Given the description of an element on the screen output the (x, y) to click on. 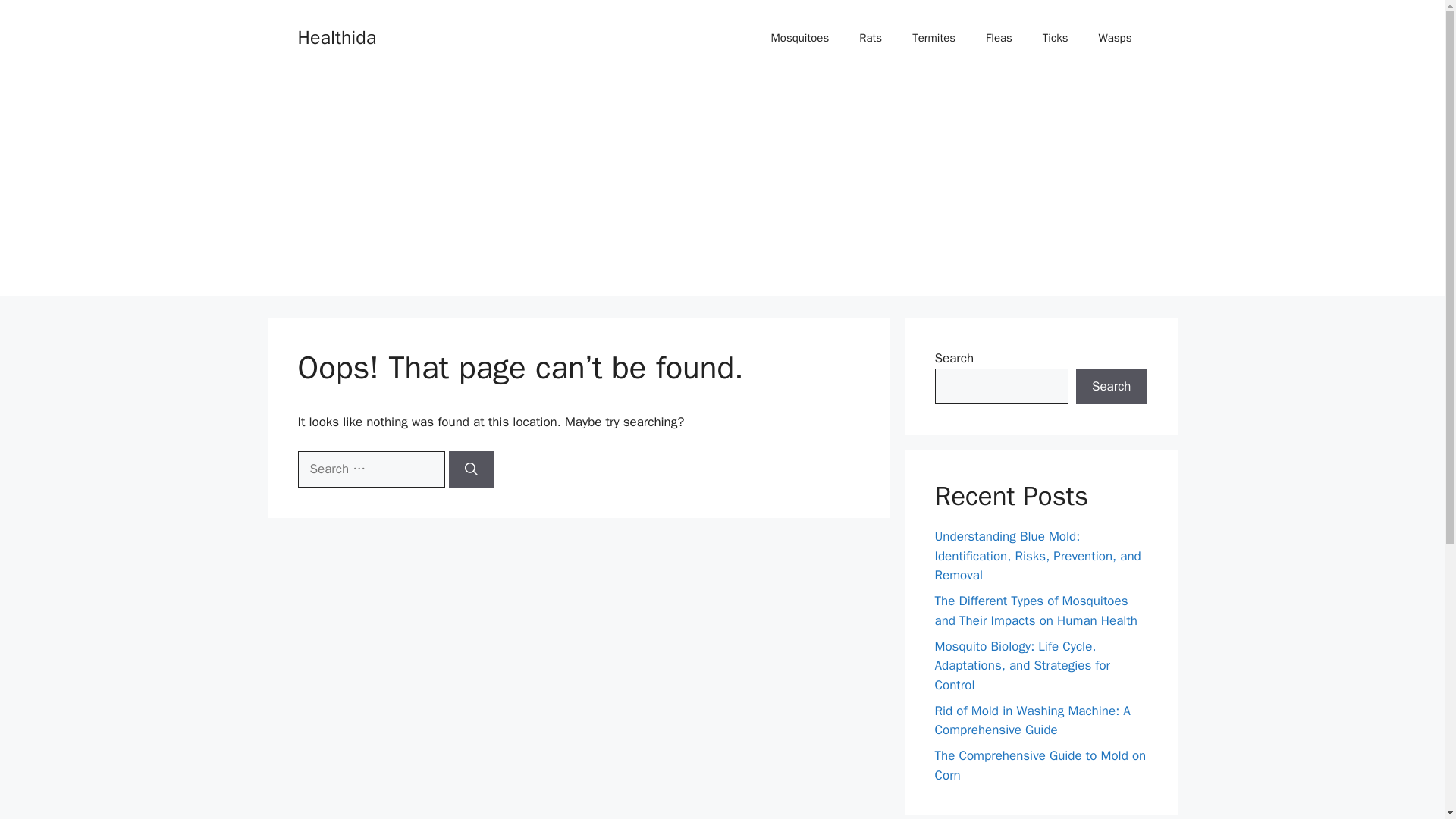
Ticks (1055, 37)
Termites (933, 37)
Rid of Mold in Washing Machine: A Comprehensive Guide (1031, 719)
Wasps (1115, 37)
Fleas (999, 37)
Rats (870, 37)
Healthida (336, 37)
Search (1111, 386)
Mosquitoes (799, 37)
The Comprehensive Guide to Mold on Corn (1039, 764)
Search for: (370, 469)
